Given the description of an element on the screen output the (x, y) to click on. 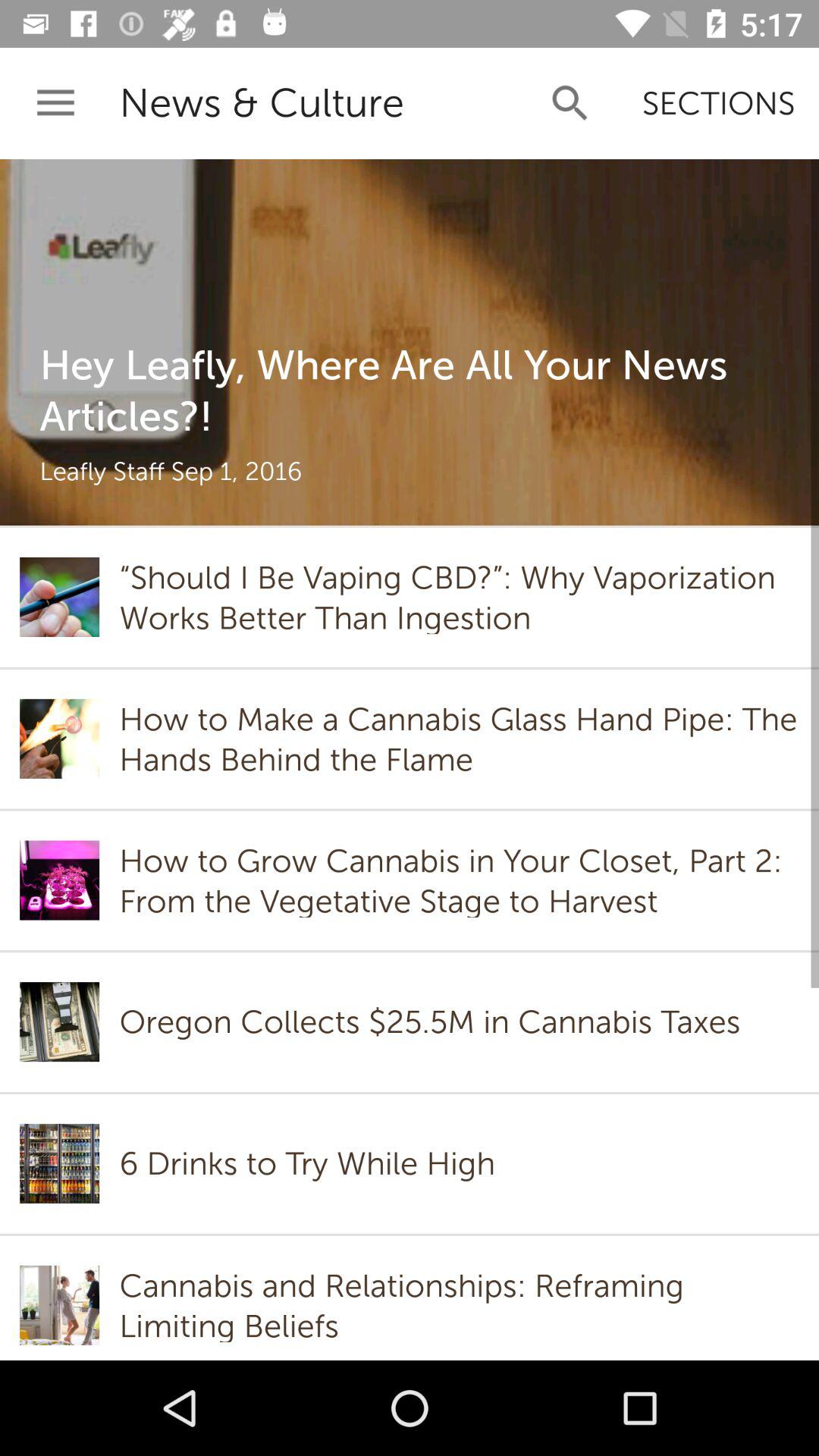
tap the item to the left of the news & culture (55, 103)
